Given the description of an element on the screen output the (x, y) to click on. 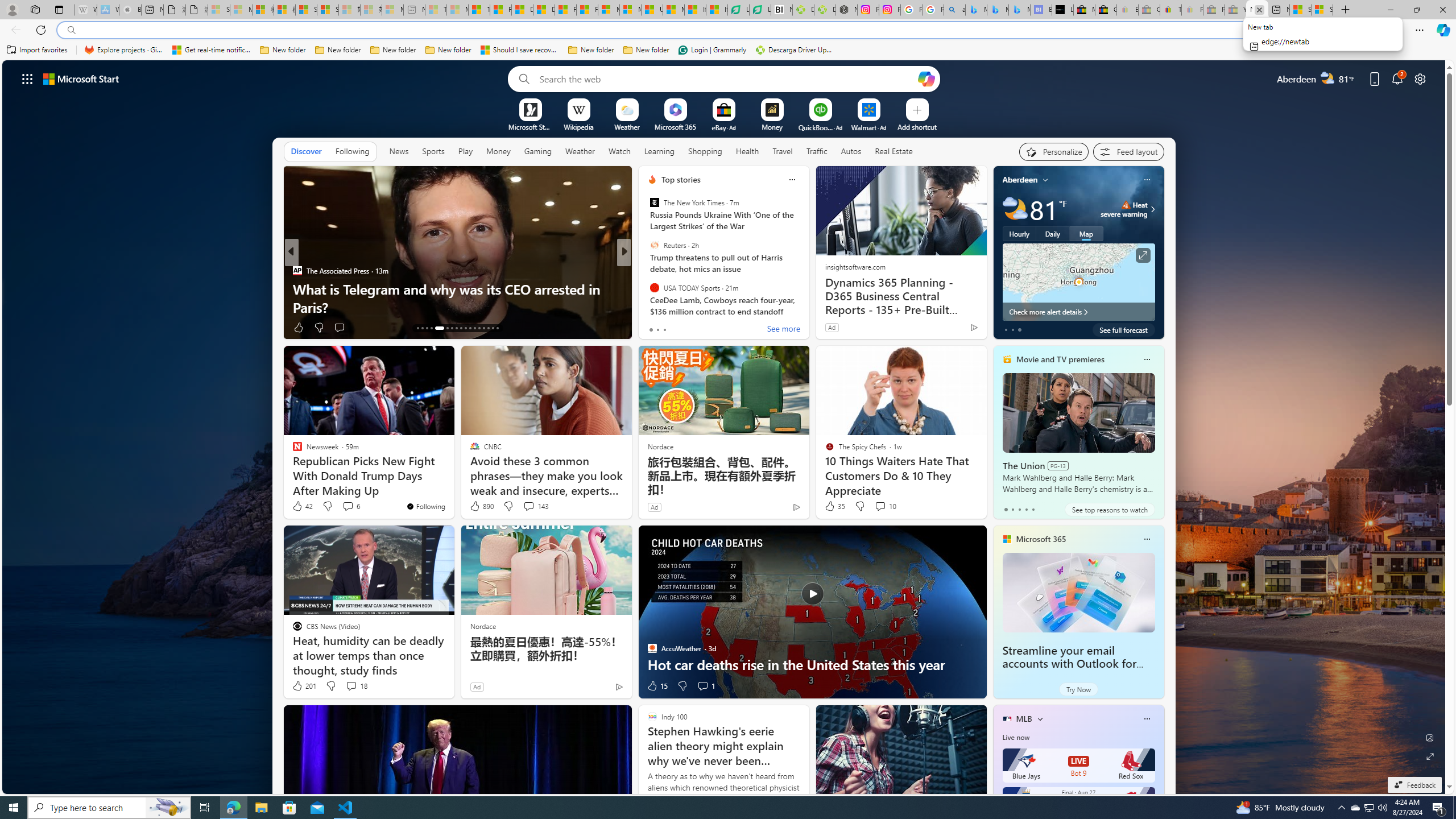
Check more alert details (1077, 311)
Ad (476, 686)
Health (746, 151)
Try Now (1078, 689)
View comments 10 Comment (885, 505)
Autos (850, 151)
View comments 66 Comment (707, 327)
AutomationID: tab-15 (426, 328)
Traffic (816, 151)
Movie and TV premieres (1060, 359)
20 Like (652, 327)
